Given the description of an element on the screen output the (x, y) to click on. 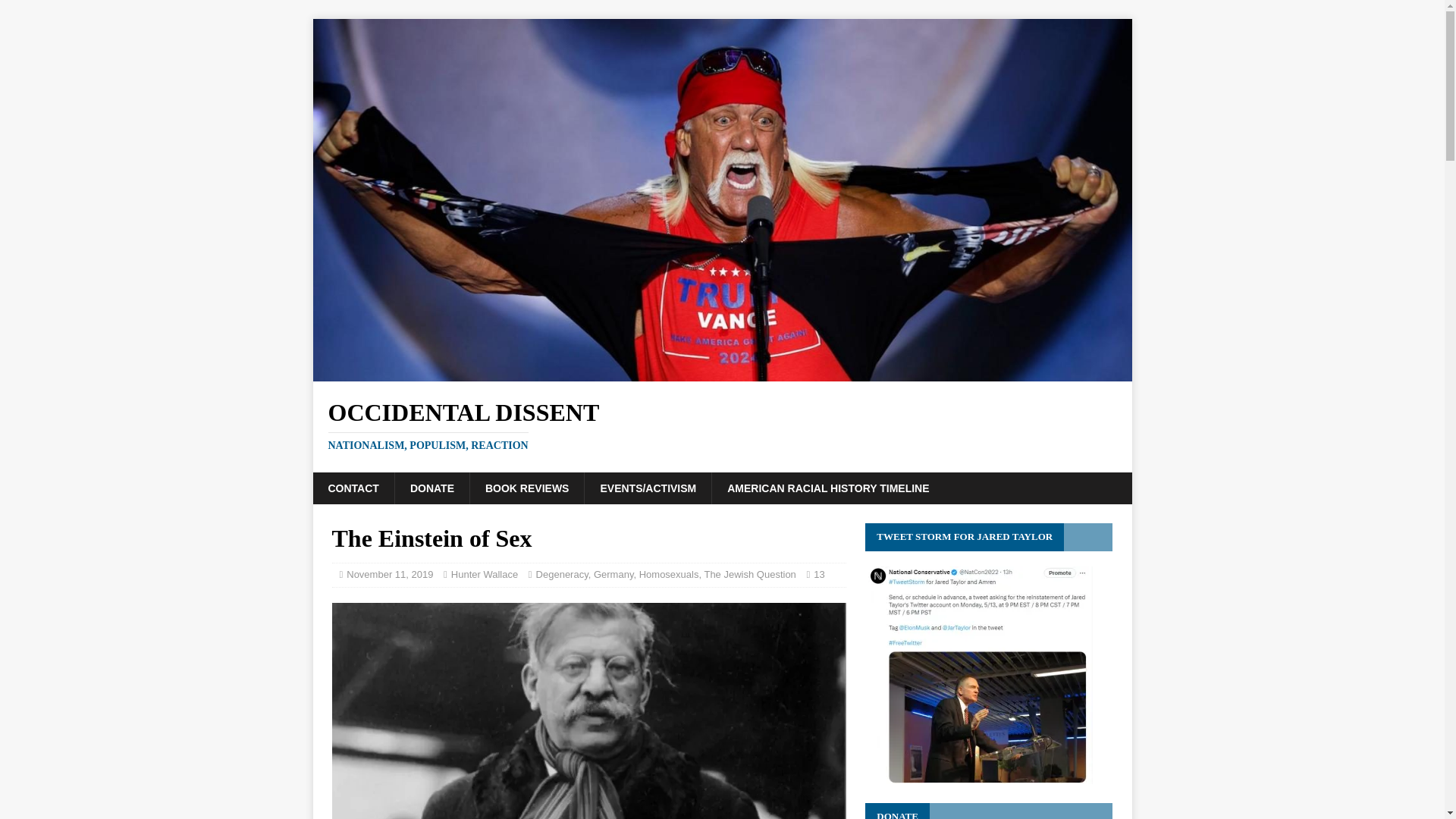
The Jewish Question (748, 573)
Occidental Dissent (722, 372)
hirschfeld (588, 710)
AMERICAN RACIAL HISTORY TIMELINE (827, 488)
November 11, 2019 (389, 573)
BOOK REVIEWS (525, 488)
Degeneracy (561, 573)
Hunter Wallace (484, 573)
13 (721, 425)
Germany (818, 573)
CONTACT (613, 573)
Homosexuals (353, 488)
DONATE (668, 573)
13 (431, 488)
